Given the description of an element on the screen output the (x, y) to click on. 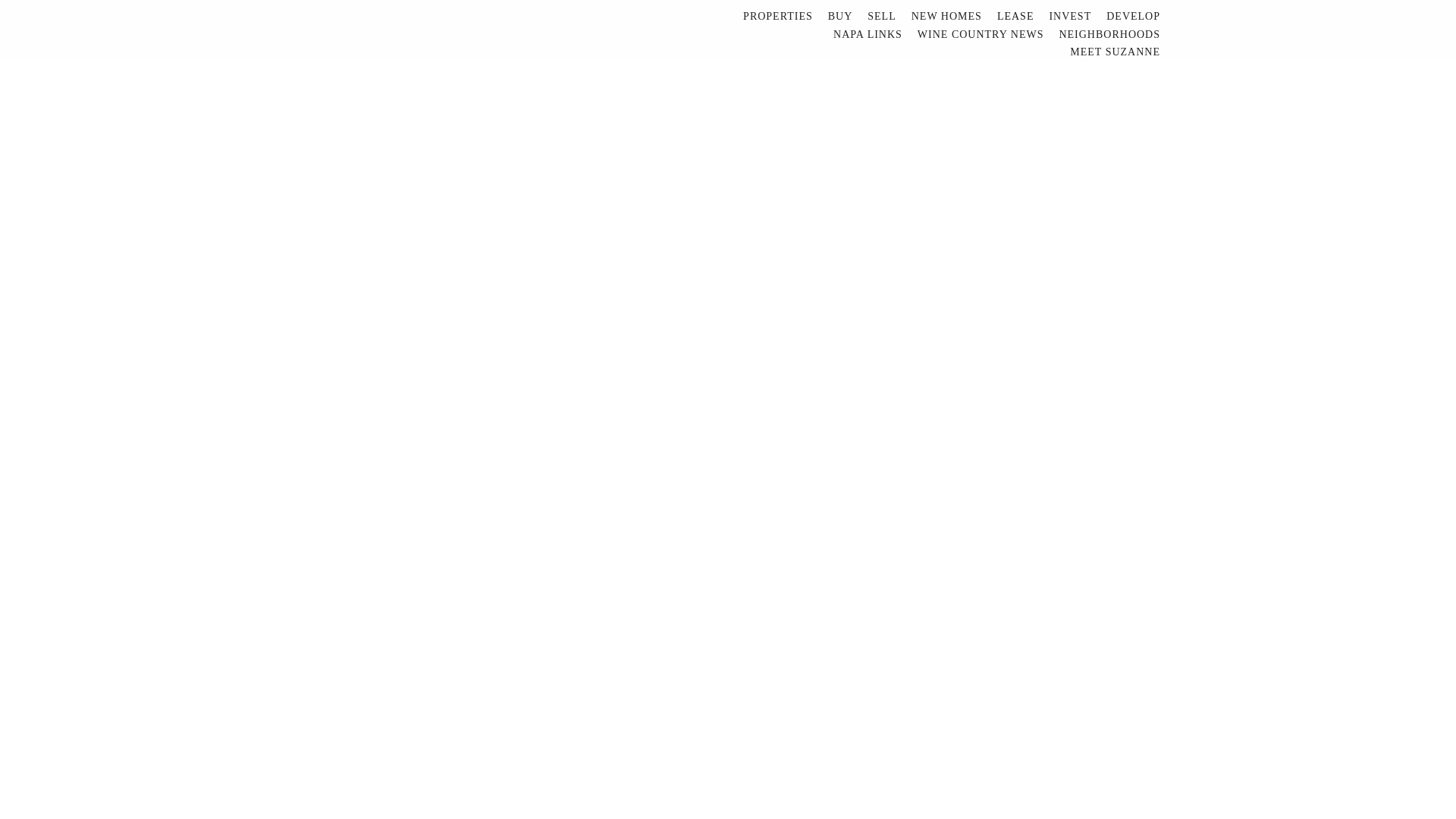
NAPA LINKS (867, 34)
SELL (881, 16)
INVESTNAPA (386, 46)
LEASE (1016, 16)
WINE COUNTRY NEWS (980, 34)
NEW HOMES (947, 16)
MEET SUZANNE (1114, 52)
DEVELOP (1133, 16)
INVEST (1070, 16)
NEIGHBORHOODS (1109, 34)
